Given the description of an element on the screen output the (x, y) to click on. 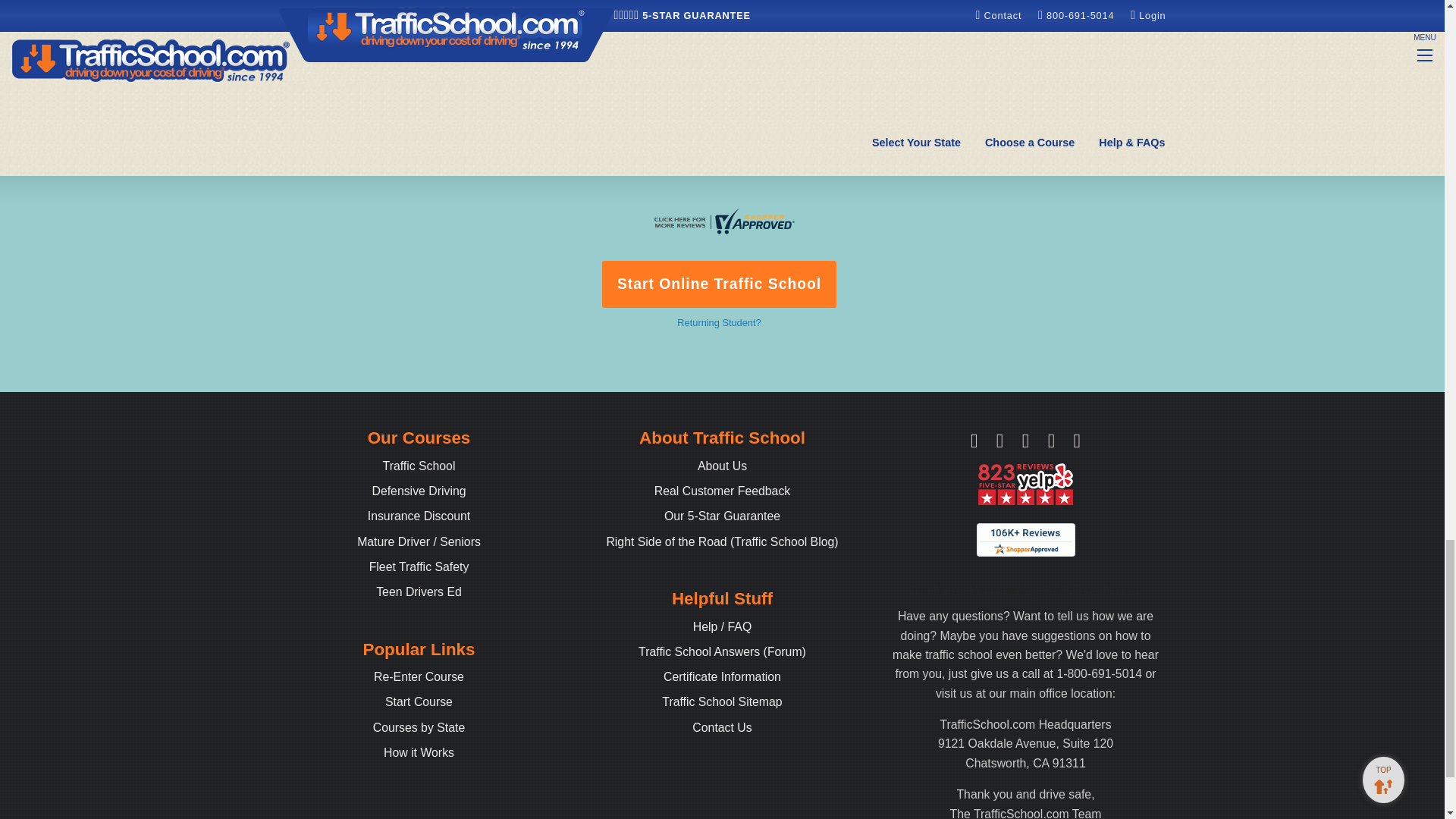
Online Defensive Driving (418, 490)
Insurance Discount (419, 515)
Start Online Traffic School (719, 284)
Re-Enter Course (419, 676)
Traffic School Online (418, 465)
Auto Insurance Discount Course (419, 515)
Traffic School (418, 465)
Teen Drivers Ed (418, 591)
Returning Student? (718, 322)
Fleet Traffic Safety (418, 566)
